Given the description of an element on the screen output the (x, y) to click on. 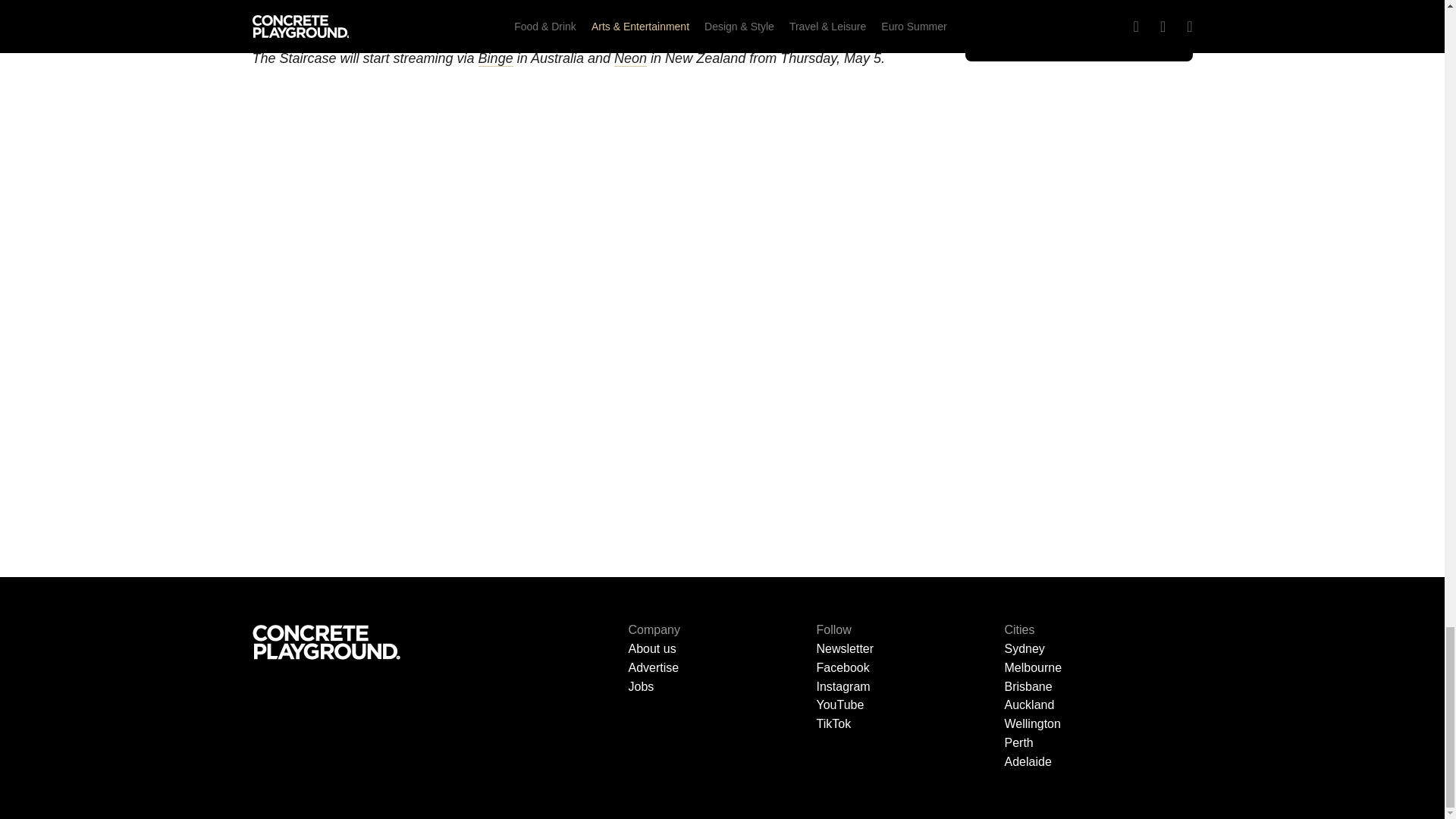
YouTube video player (577, 9)
